Given the description of an element on the screen output the (x, y) to click on. 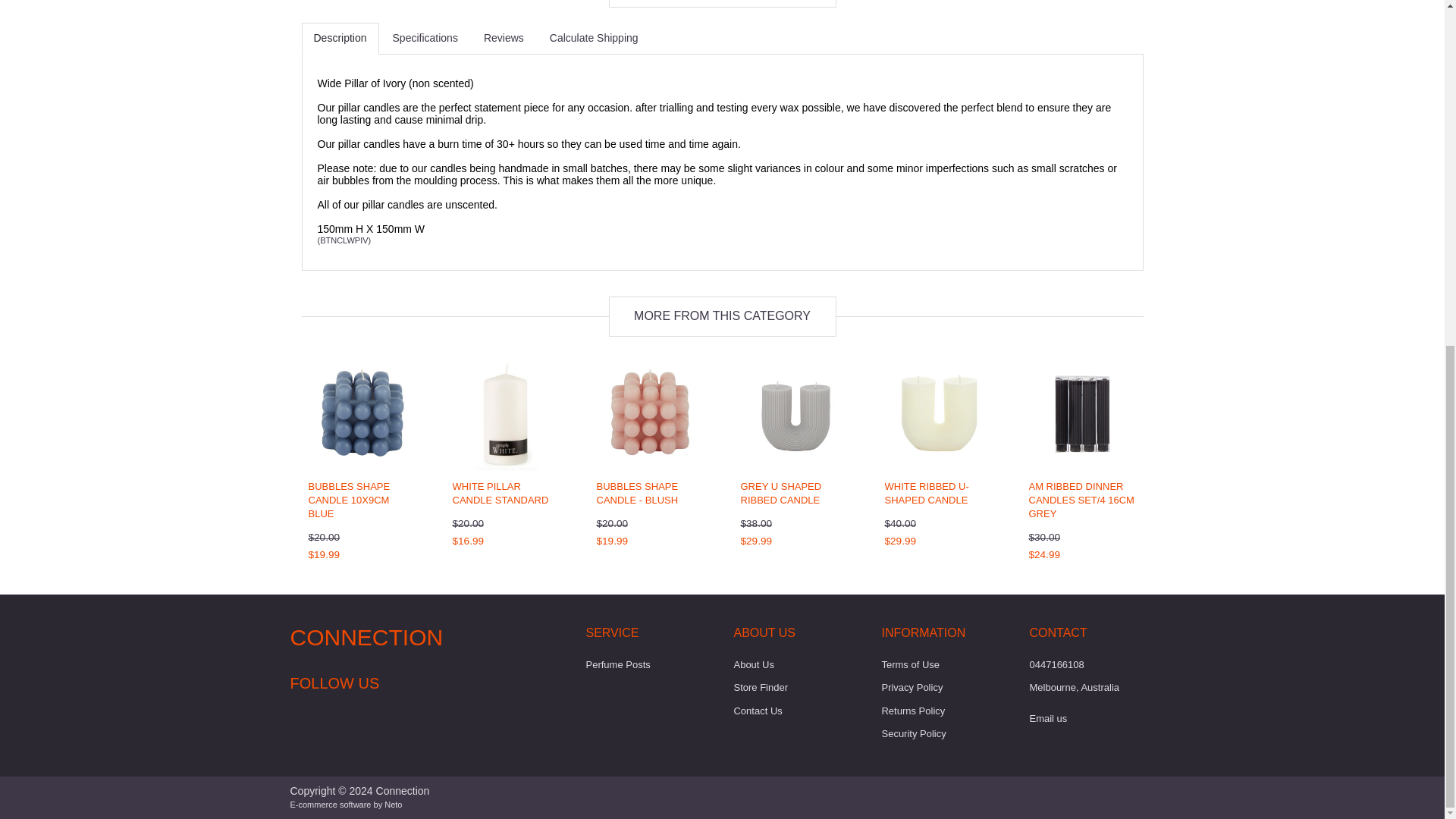
Bubbles Shape Candle - Blush (636, 493)
WHITE PILLAR CANDLE STANDARD (499, 493)
White Ribbed U-Shaped Candle (925, 493)
Bubbles Shape Candle 10x9cm Blue (348, 499)
